Given the description of an element on the screen output the (x, y) to click on. 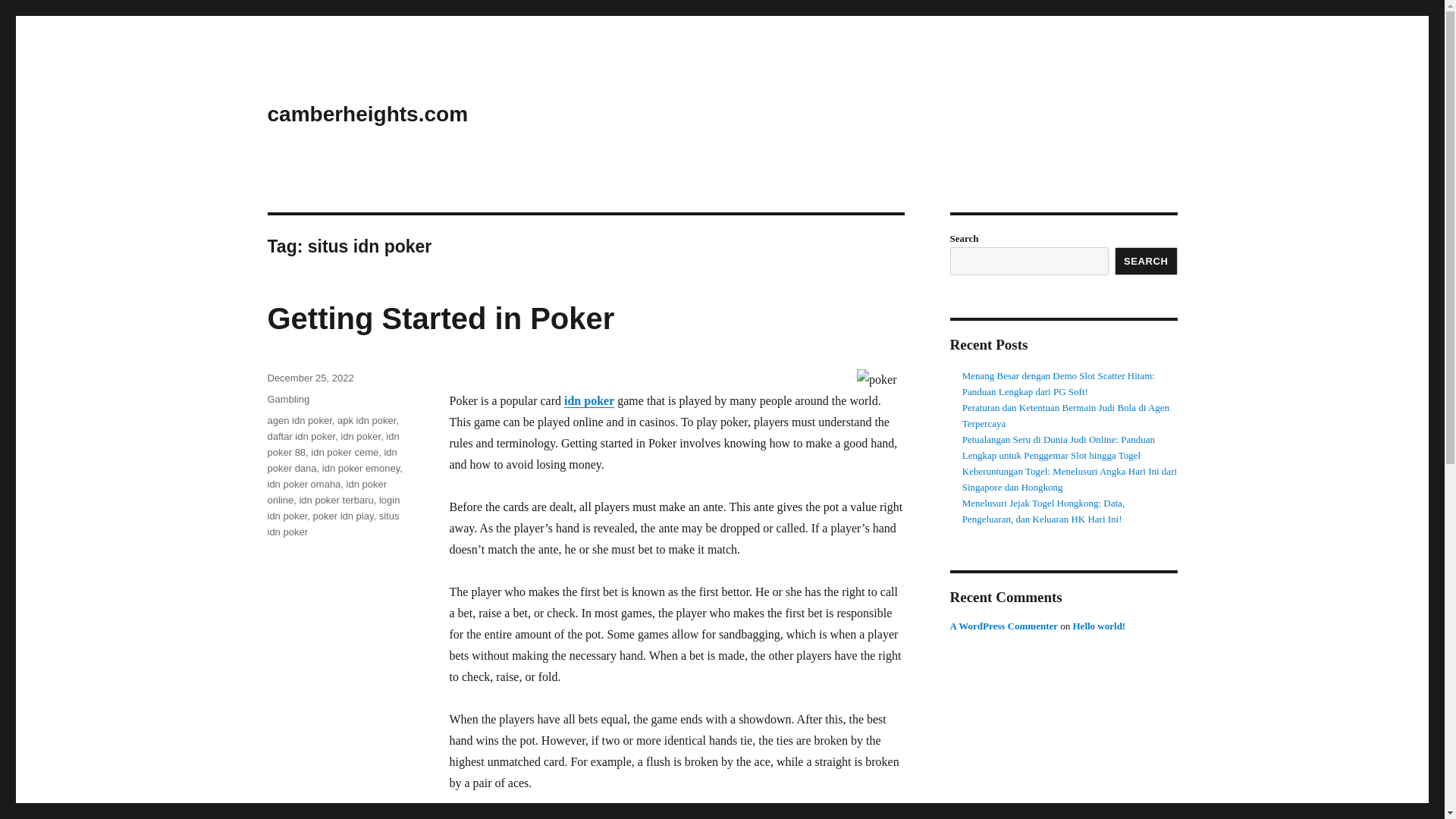
poker idn play (342, 515)
idn poker (589, 400)
idn poker omaha (303, 483)
idn poker 88 (332, 443)
idn poker (360, 436)
apk idn poker (366, 419)
daftar idn poker (300, 436)
idn poker emoney (359, 468)
idn poker online (326, 492)
idn poker dana (331, 460)
idn poker ceme (344, 451)
login idn poker (332, 507)
A WordPress Commenter (1003, 625)
